Given the description of an element on the screen output the (x, y) to click on. 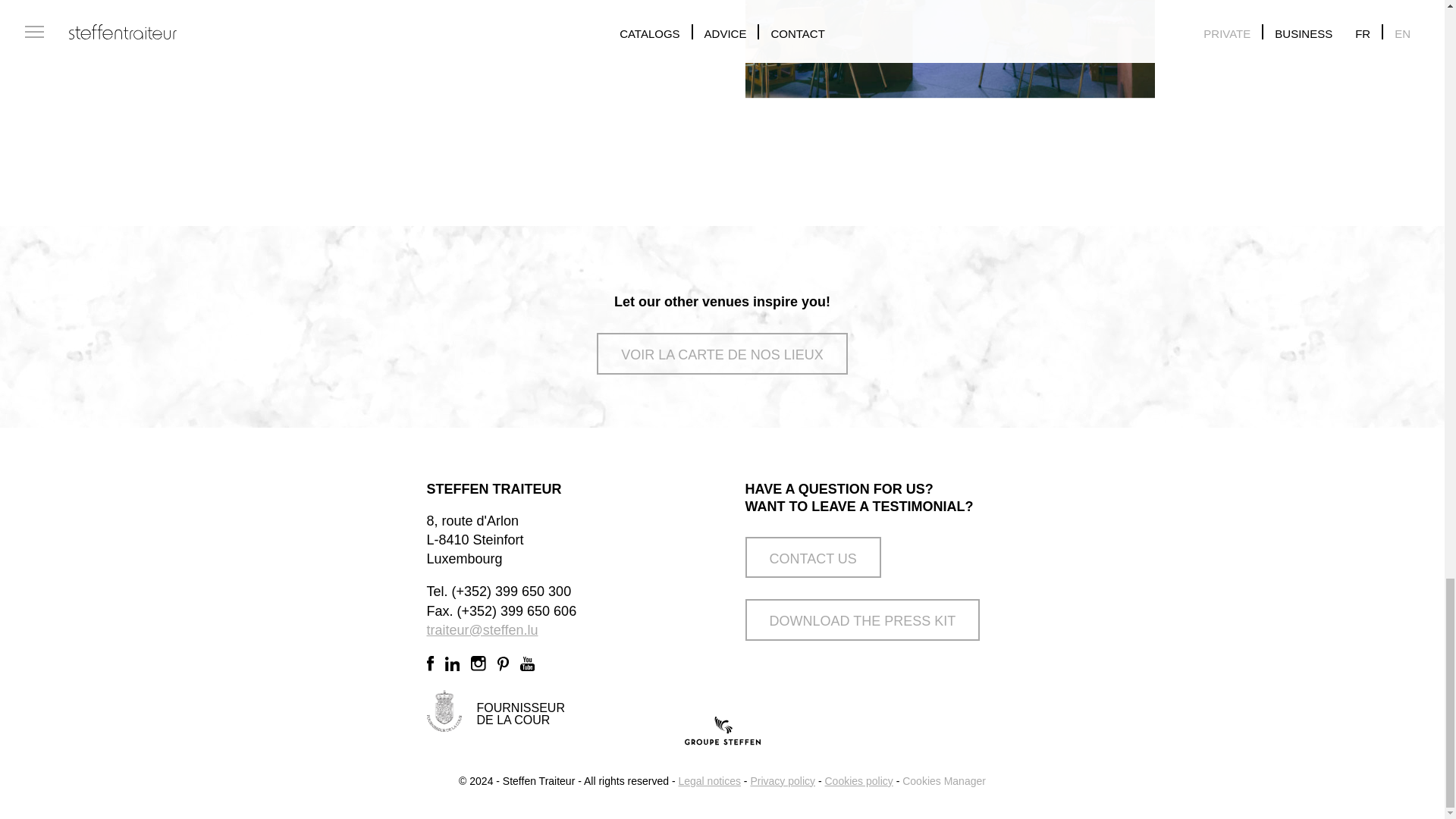
DOWNLOAD THE PRESS KIT (861, 618)
VOIR LA CARTE DE NOS LIEUX (721, 352)
CONTACT US (812, 557)
